Given the description of an element on the screen output the (x, y) to click on. 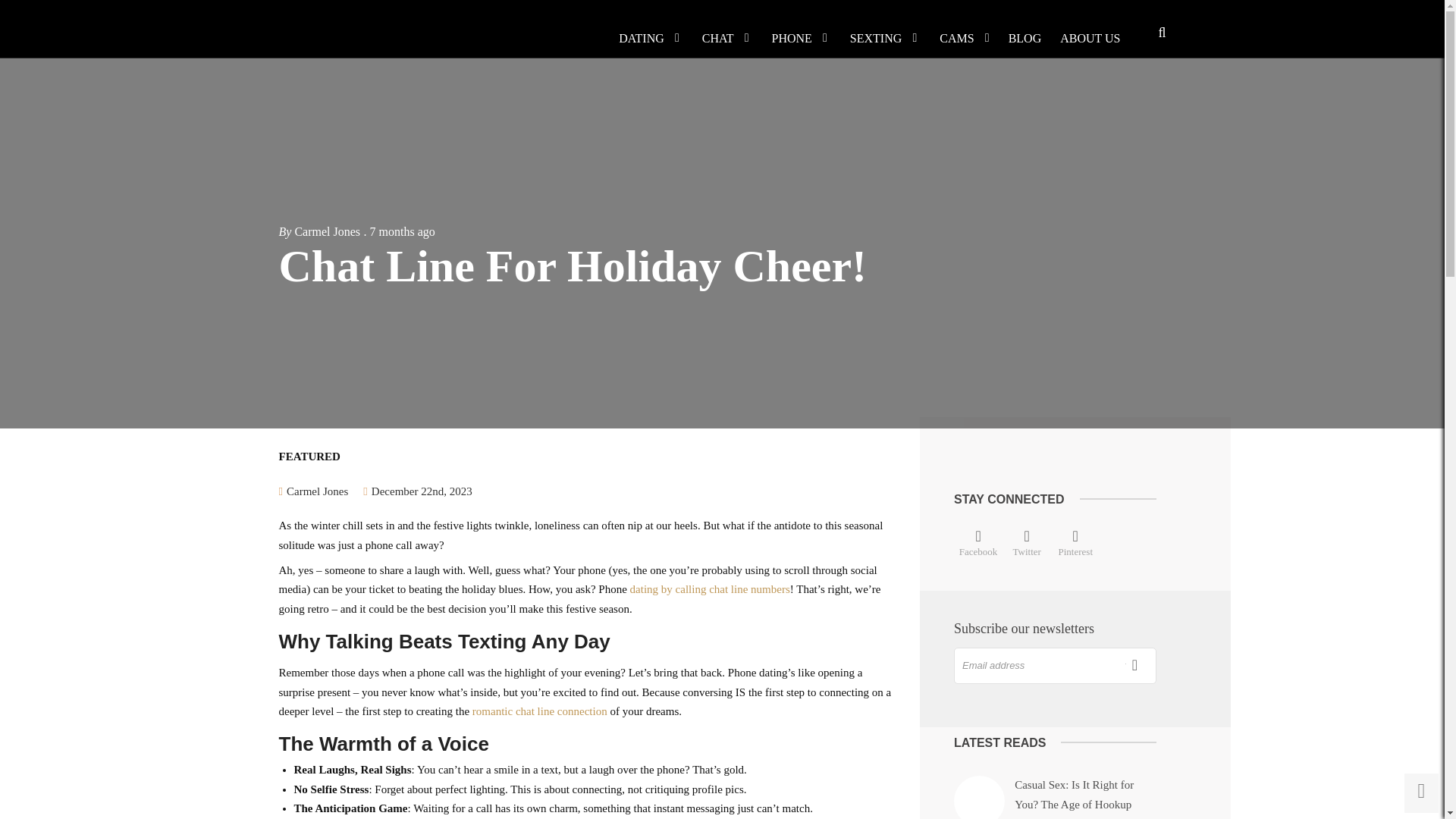
DATING (641, 37)
CHAT (718, 37)
PHONE (792, 37)
s (1129, 664)
